Given the description of an element on the screen output the (x, y) to click on. 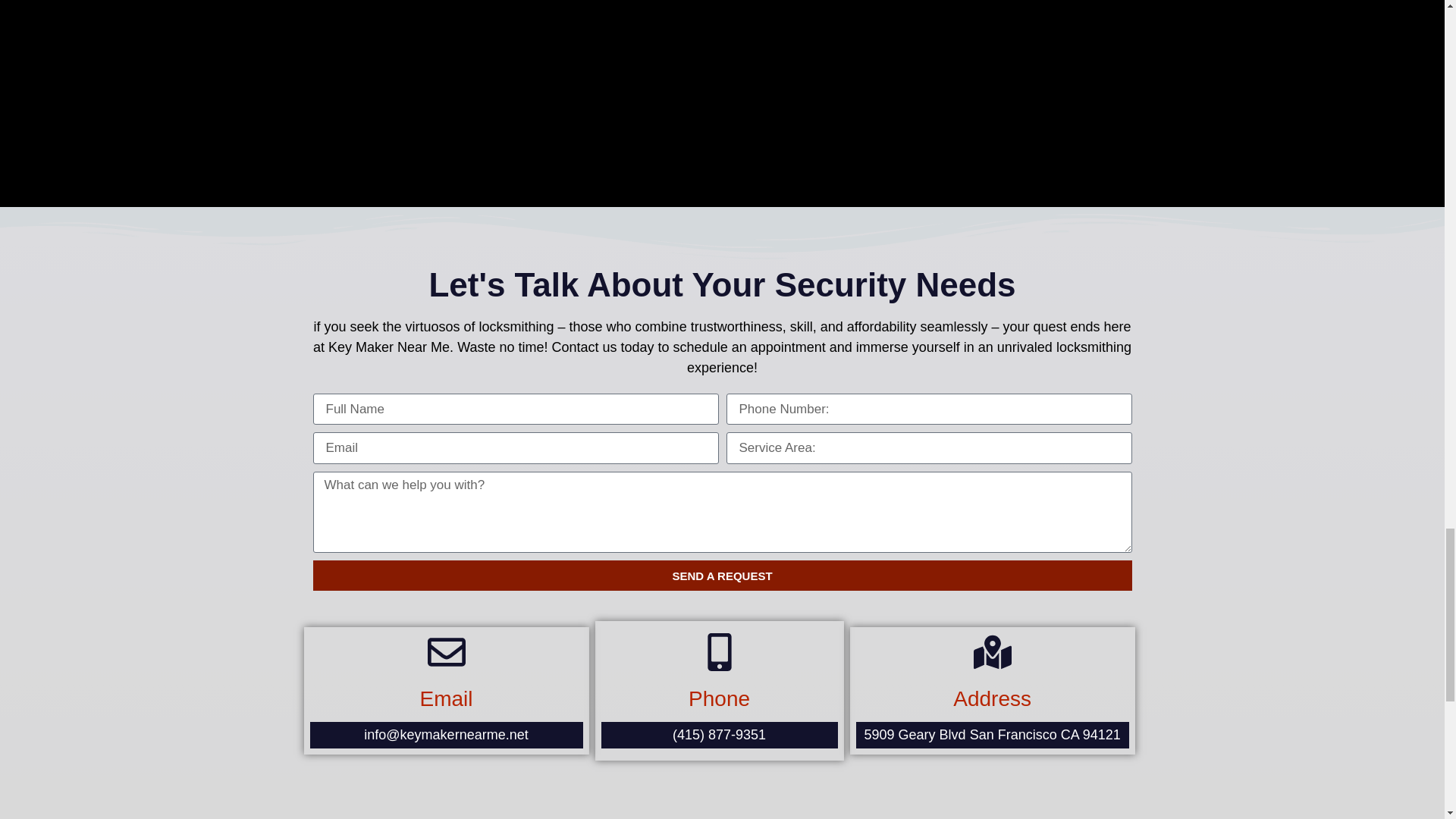
Key Maker Near Me Locksmith San Francisco map (721, 74)
SEND A REQUEST (722, 575)
5909 Geary Blvd San Francisco CA 94121 (992, 734)
